Given the description of an element on the screen output the (x, y) to click on. 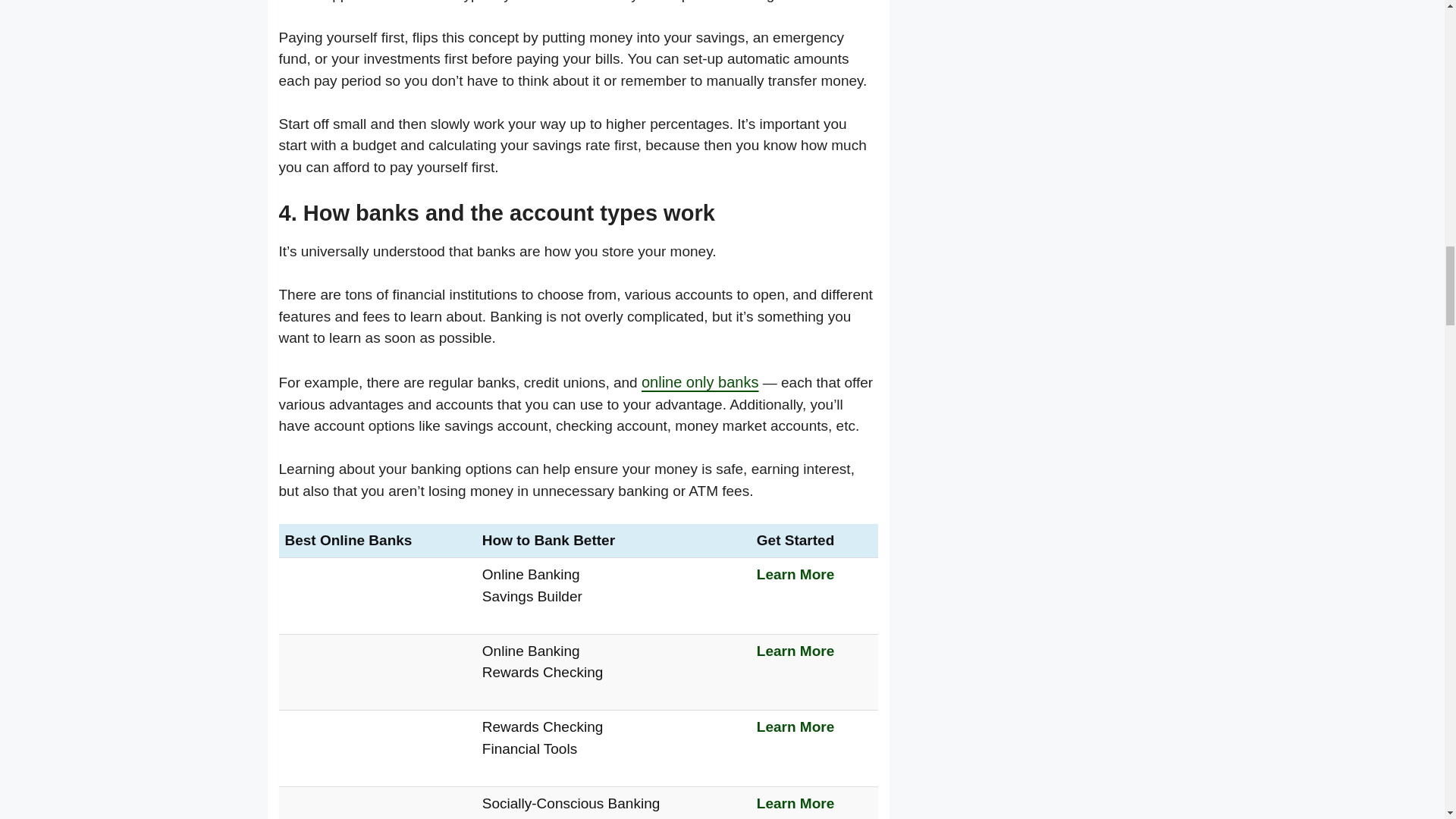
Learn More (795, 726)
Learn More (795, 650)
Learn More (795, 574)
online only banks (700, 381)
Learn More (795, 803)
